Given the description of an element on the screen output the (x, y) to click on. 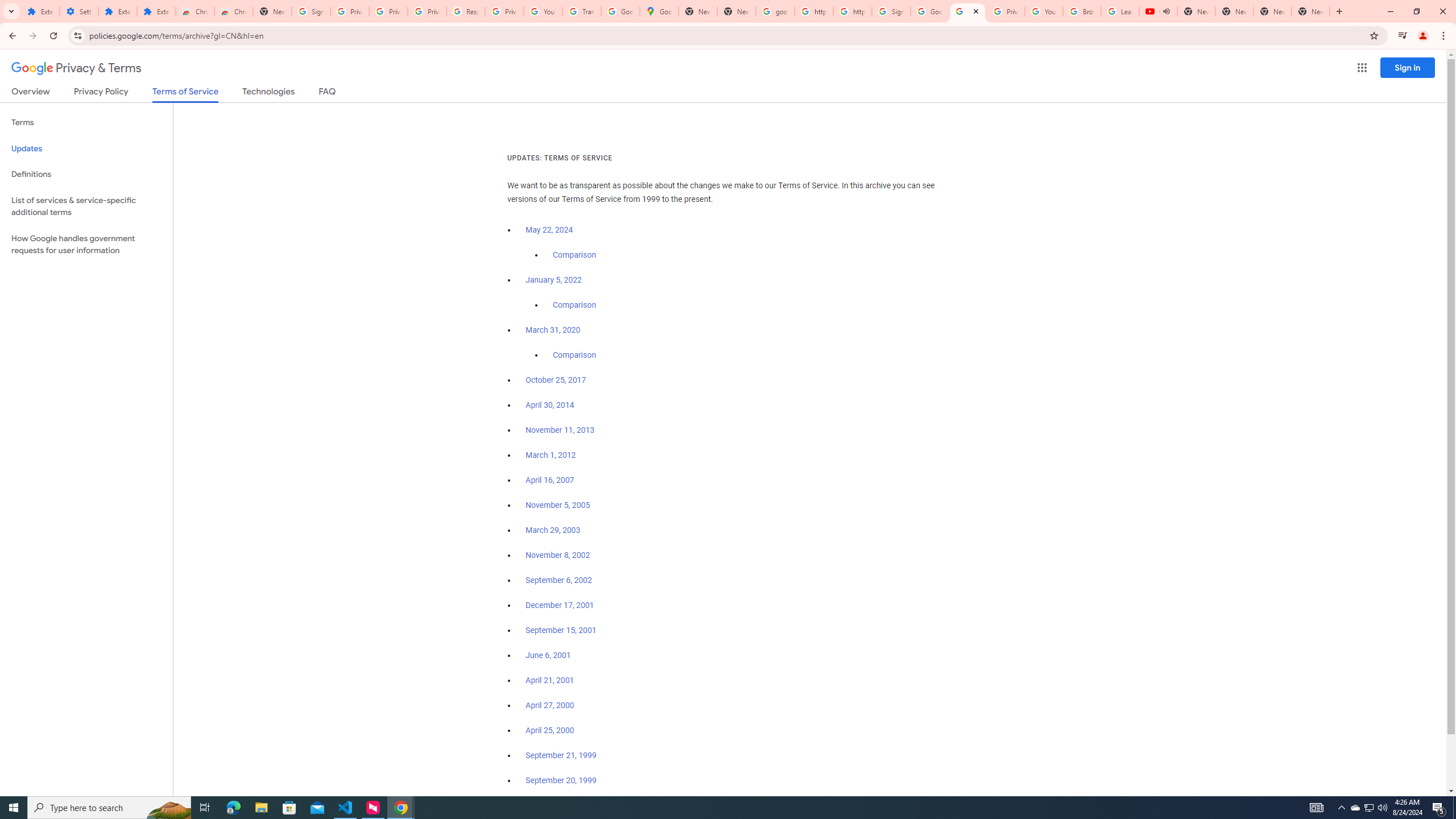
May 22, 2024 (549, 230)
YouTube (1043, 11)
Reload (52, 35)
November 5, 2005 (557, 505)
Forward (32, 35)
Minimize (1390, 11)
October 25, 2017 (555, 380)
March 29, 2003 (552, 530)
Chrome (1445, 35)
FAQ (327, 93)
Privacy Policy (100, 93)
